Given the description of an element on the screen output the (x, y) to click on. 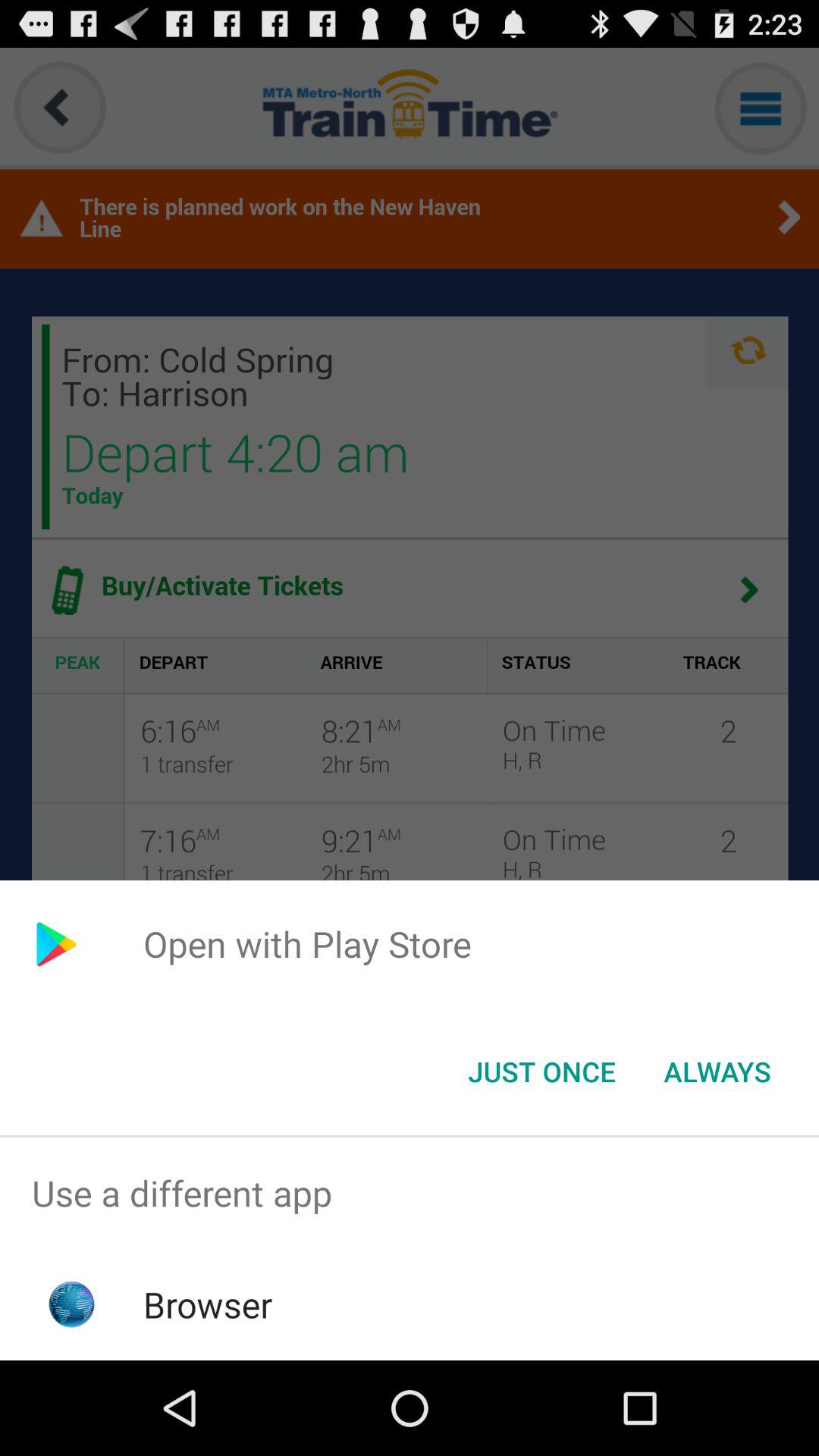
tap the button next to the just once item (717, 1071)
